Given the description of an element on the screen output the (x, y) to click on. 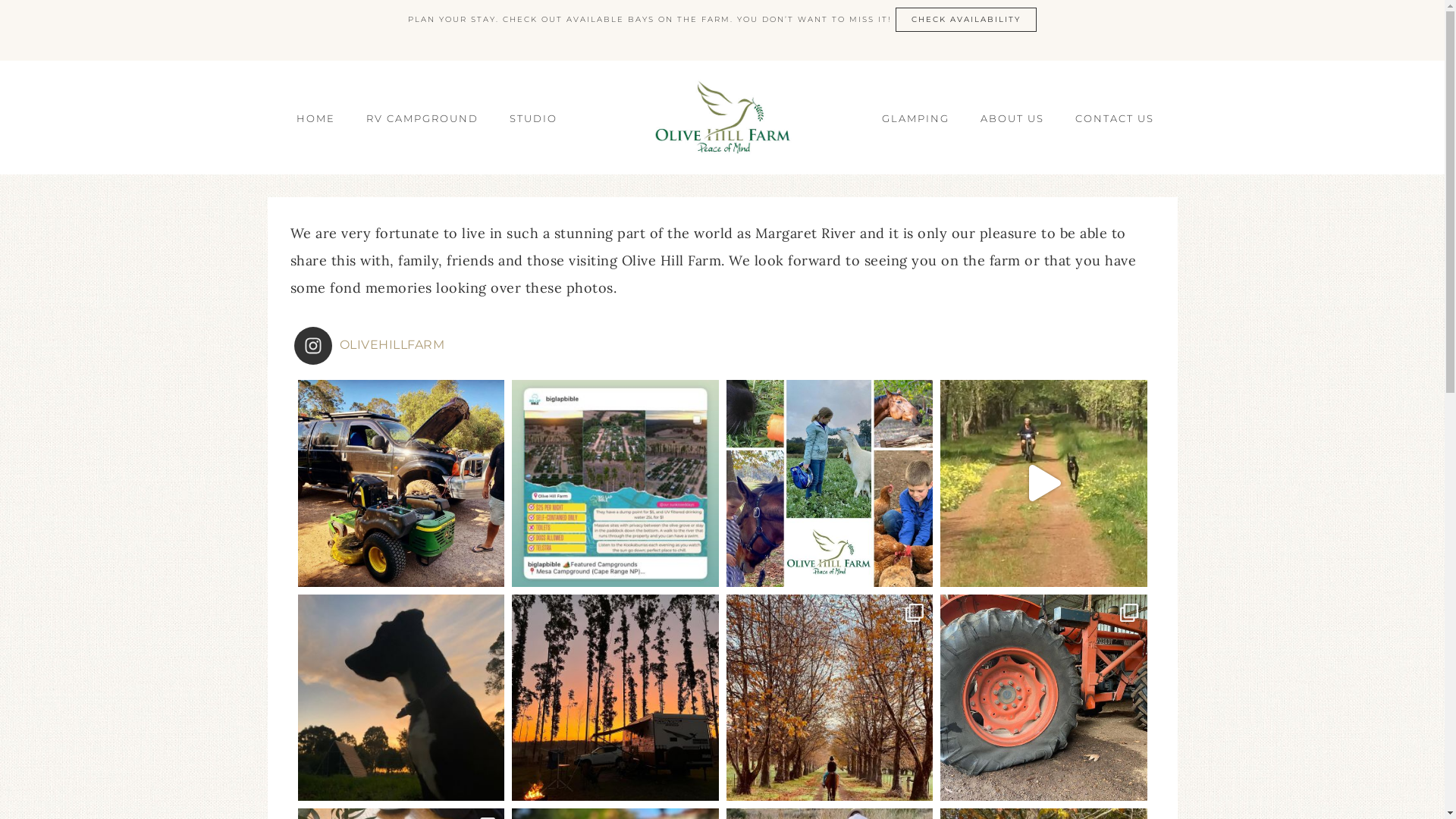
STUDIO Element type: text (533, 118)
CONTACT US Element type: text (1114, 118)
RV CAMPGROUND Element type: text (421, 118)
GLAMPING Element type: text (915, 118)
ABOUT US Element type: text (1011, 118)
OLIVE HILL FARM Element type: text (721, 117)
CHECK AVAILABILITY Element type: text (965, 19)
HOME Element type: text (315, 118)
OLIVEHILLFARM Element type: text (722, 345)
